Given the description of an element on the screen output the (x, y) to click on. 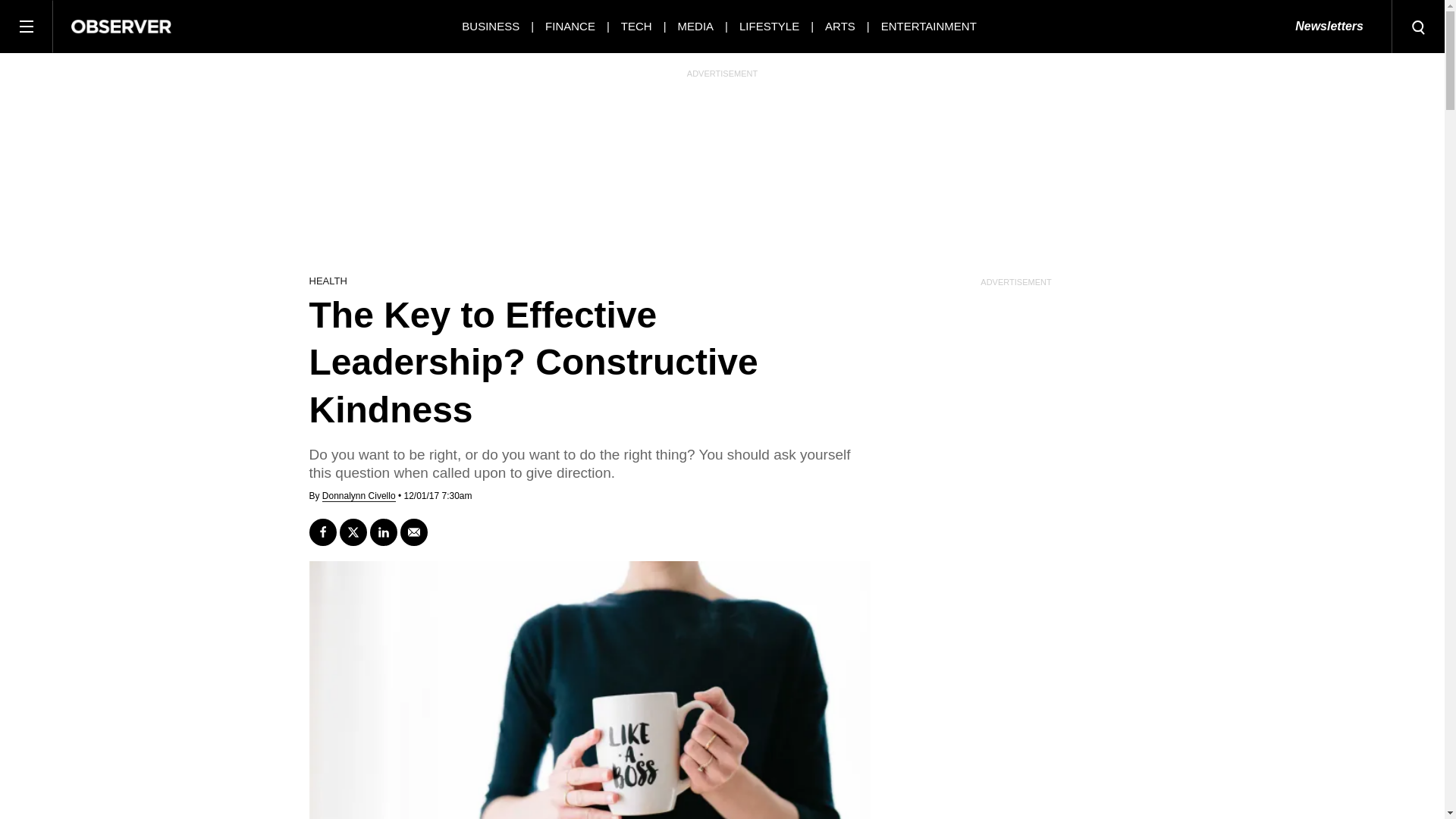
Share on Facebook (322, 532)
MEDIA (696, 25)
Share on LinkedIn (383, 532)
FINANCE (569, 25)
ENTERTAINMENT (928, 25)
Tweet (352, 532)
ARTS (840, 25)
LIFESTYLE (769, 25)
TECH (636, 25)
View All Posts by Donnalynn Civello (358, 496)
